Given the description of an element on the screen output the (x, y) to click on. 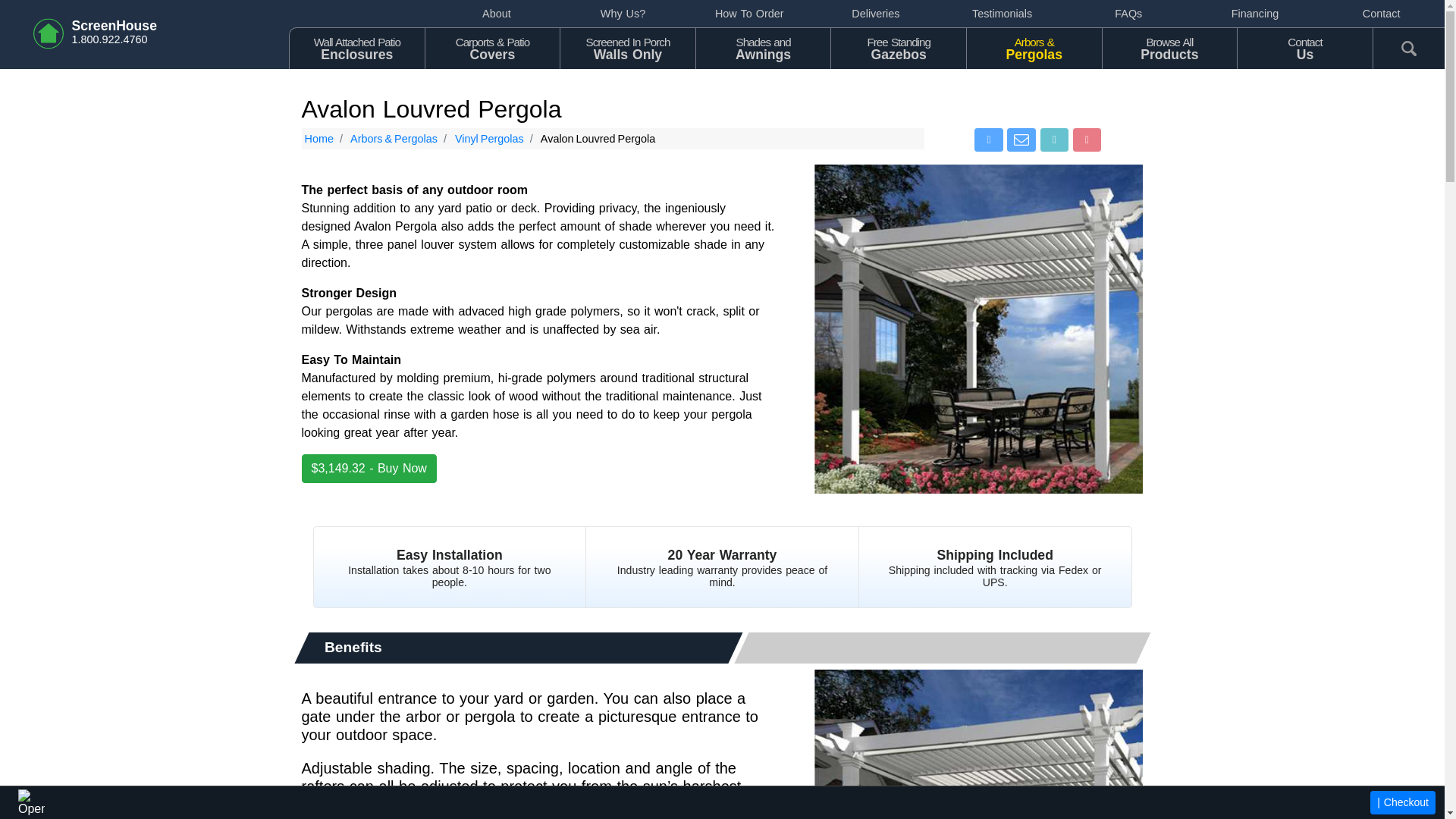
FAQs (1128, 13)
Testimonials (1002, 13)
About (496, 13)
Deliveries (875, 13)
Financing (763, 47)
How To Order (897, 47)
